Given the description of an element on the screen output the (x, y) to click on. 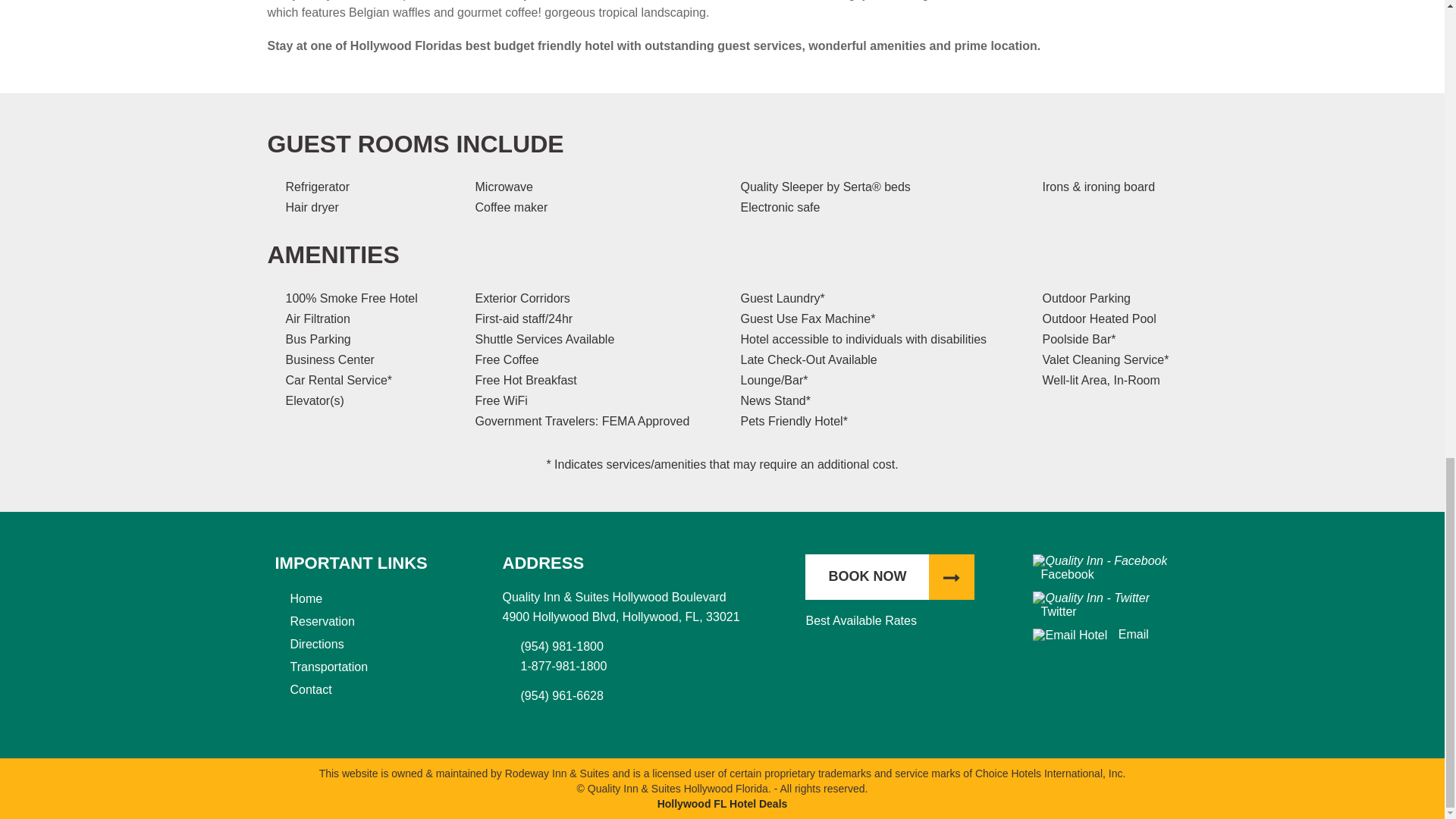
Facebook (1099, 567)
Transportation (328, 666)
Contact (310, 689)
Directions (316, 644)
Hollywood FL Hotel Deals (722, 803)
Email (1127, 634)
1-877-981-1800 (654, 666)
Reservation (321, 621)
Twitter (1091, 604)
Home (305, 598)
